Given the description of an element on the screen output the (x, y) to click on. 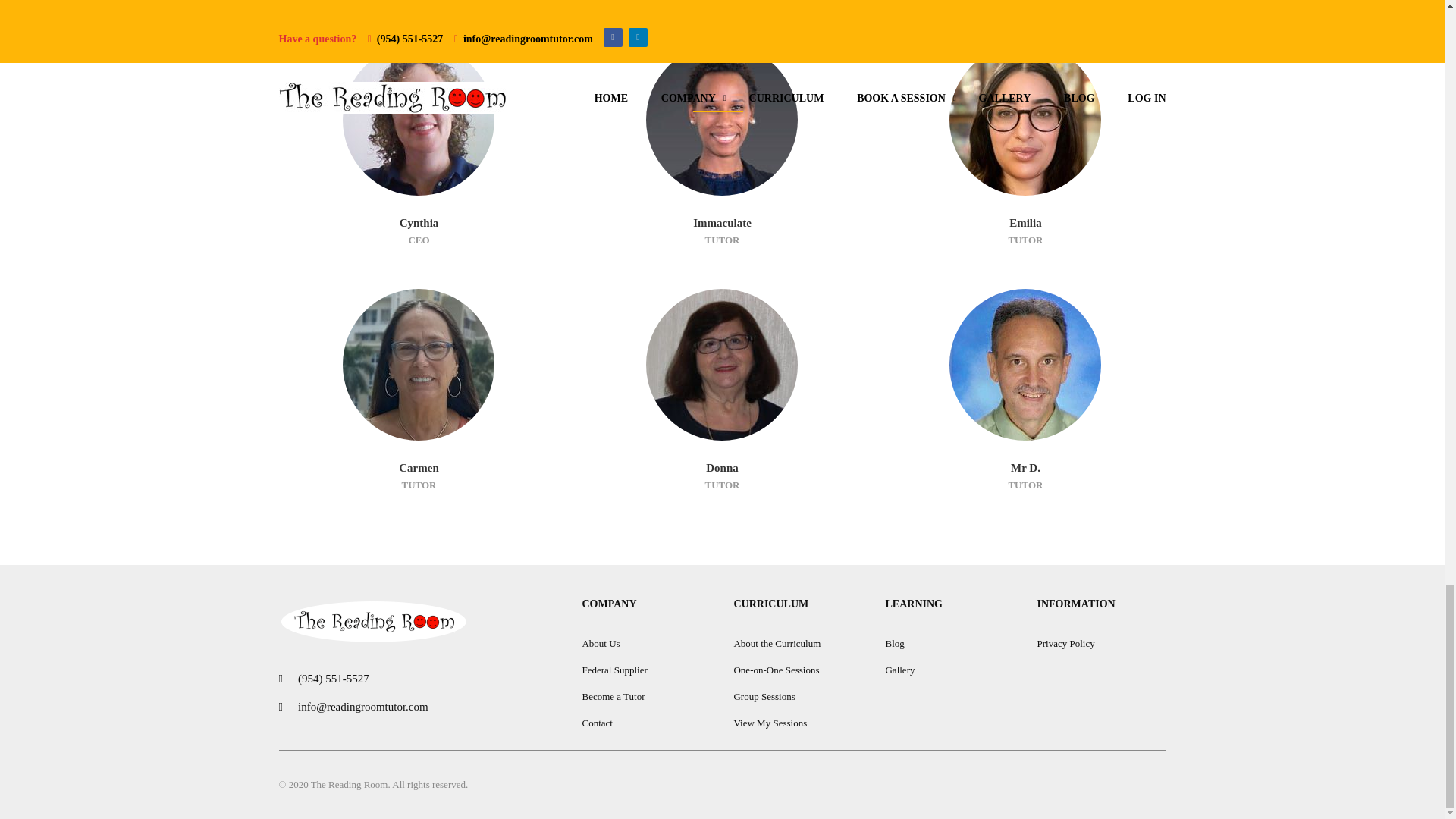
Cynthia (418, 223)
Click the name for the entire profile. (721, 363)
Click the name for the entire profile. (1024, 119)
Click the name for the entire profile. (418, 119)
Immaculate (722, 223)
Click the name for the entire profile. (1024, 363)
Click the name for the entire profile. (721, 119)
